Given the description of an element on the screen output the (x, y) to click on. 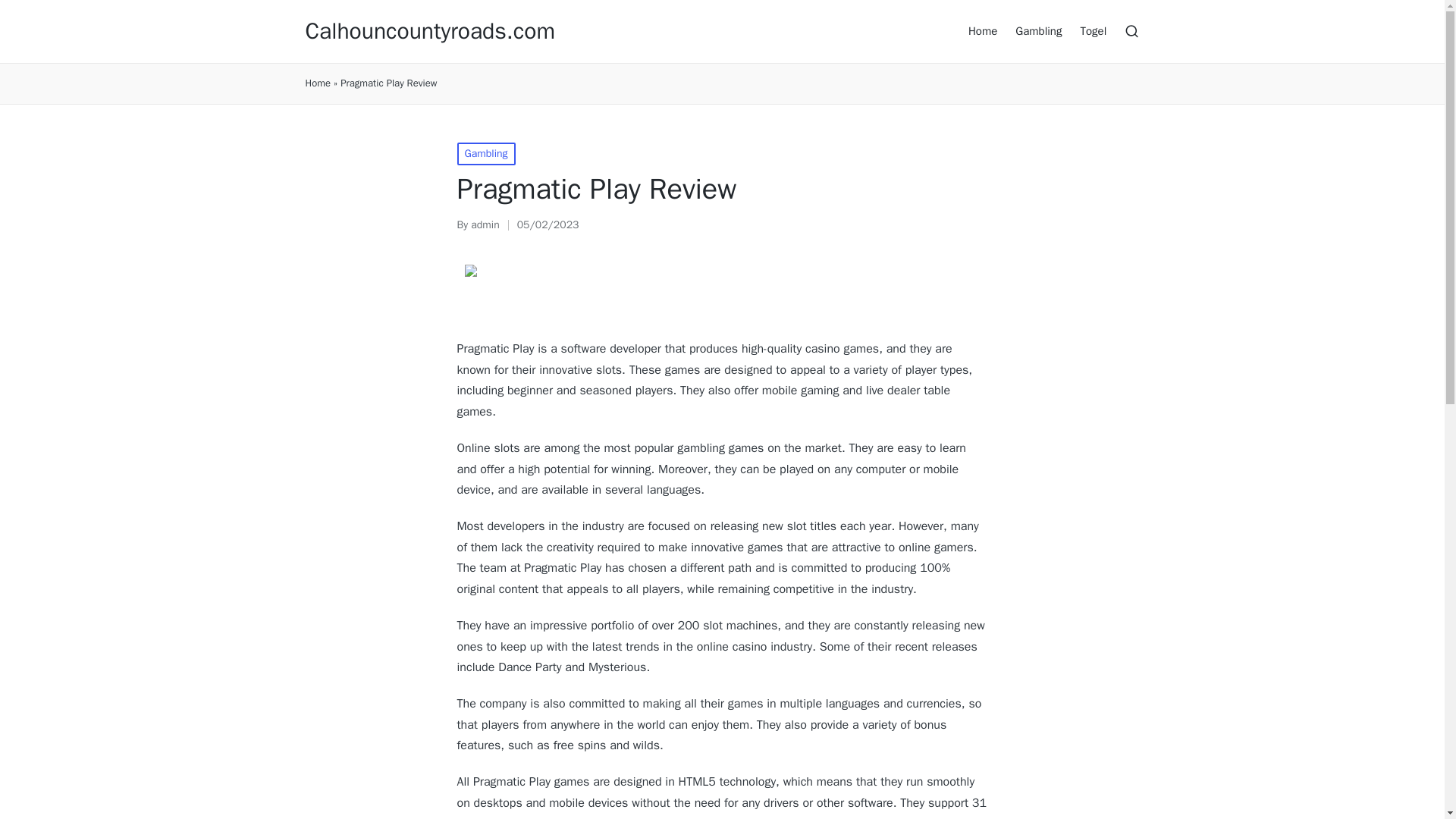
Gambling (1037, 30)
Home (317, 83)
Togel (1093, 30)
Gambling (486, 153)
Home (982, 30)
admin (484, 224)
Calhouncountyroads.com (429, 31)
View all posts by admin (484, 224)
